Given the description of an element on the screen output the (x, y) to click on. 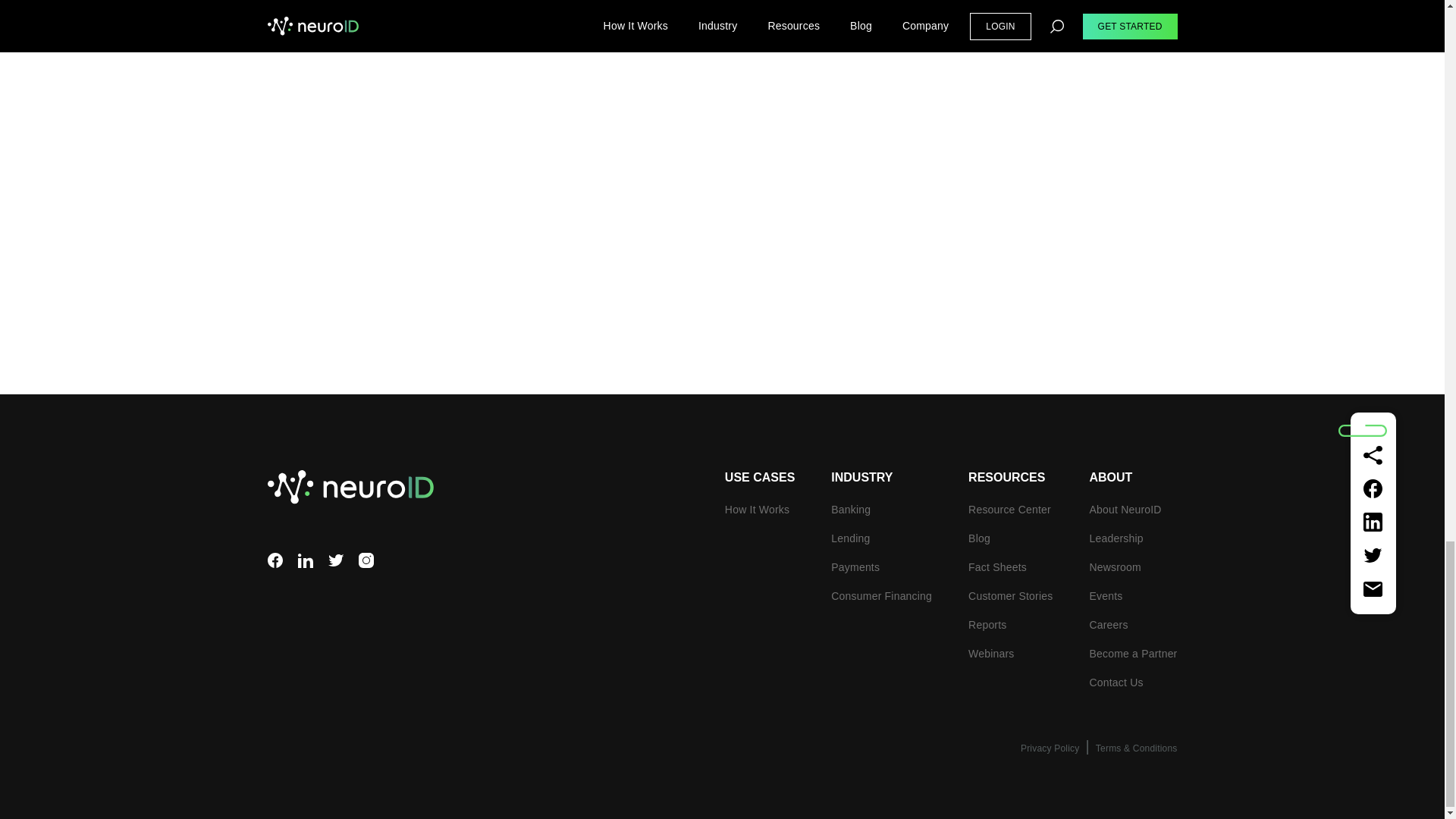
Facebook (274, 560)
